Given the description of an element on the screen output the (x, y) to click on. 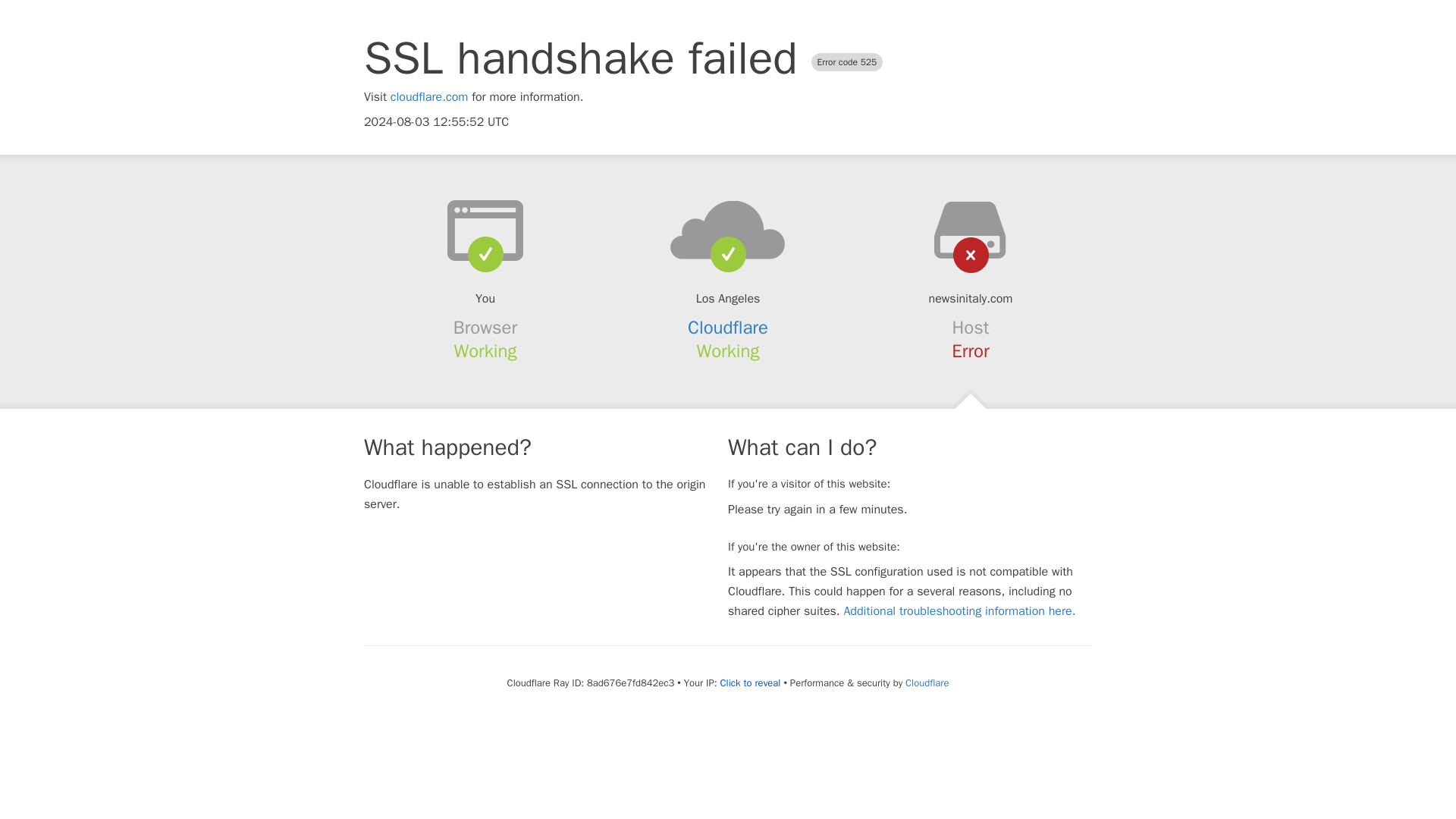
Cloudflare (727, 327)
Click to reveal (750, 683)
Additional troubleshooting information here. (959, 611)
cloudflare.com (429, 96)
Cloudflare (927, 682)
